Given the description of an element on the screen output the (x, y) to click on. 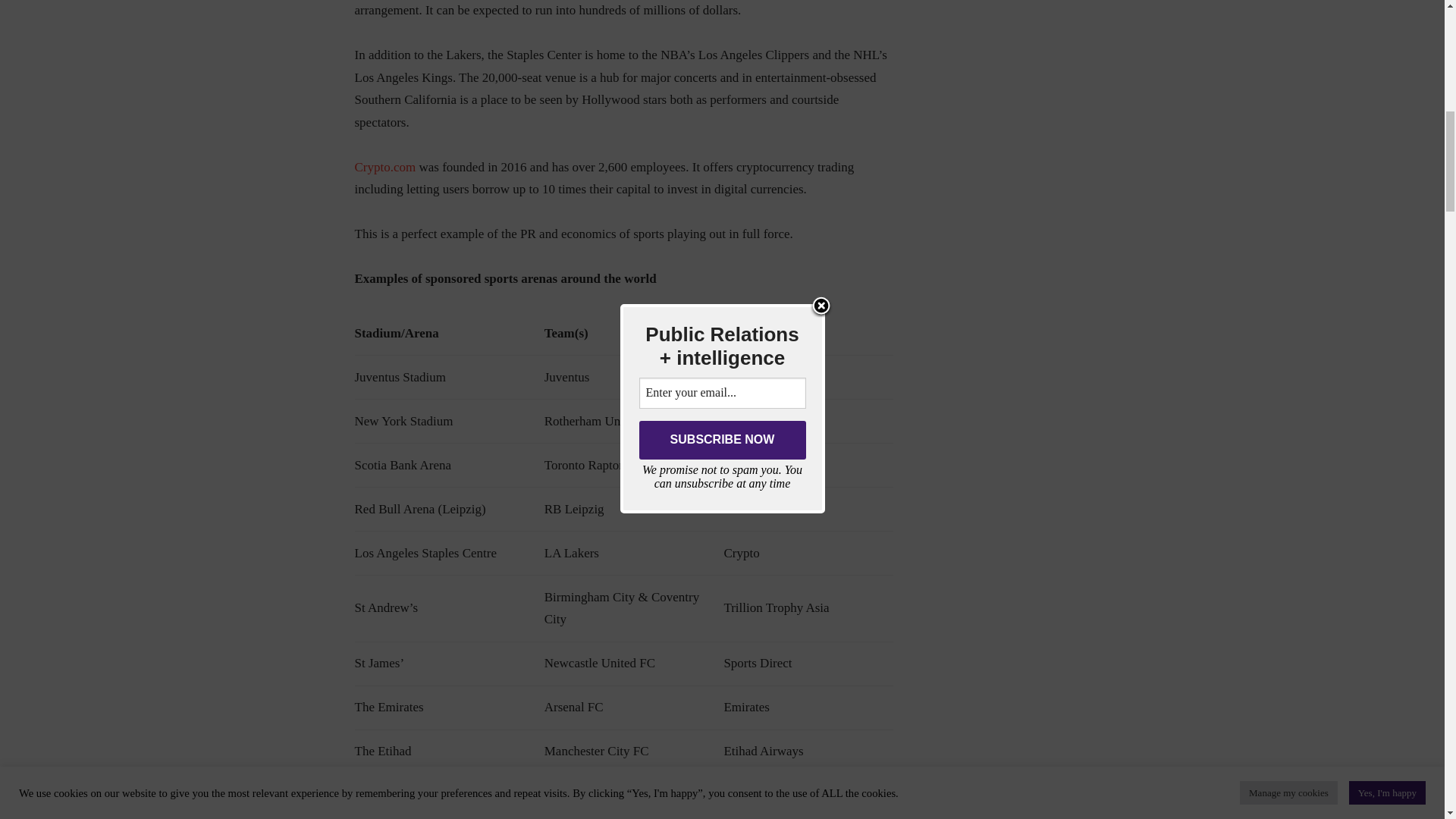
Crypto.com (385, 166)
